Given the description of an element on the screen output the (x, y) to click on. 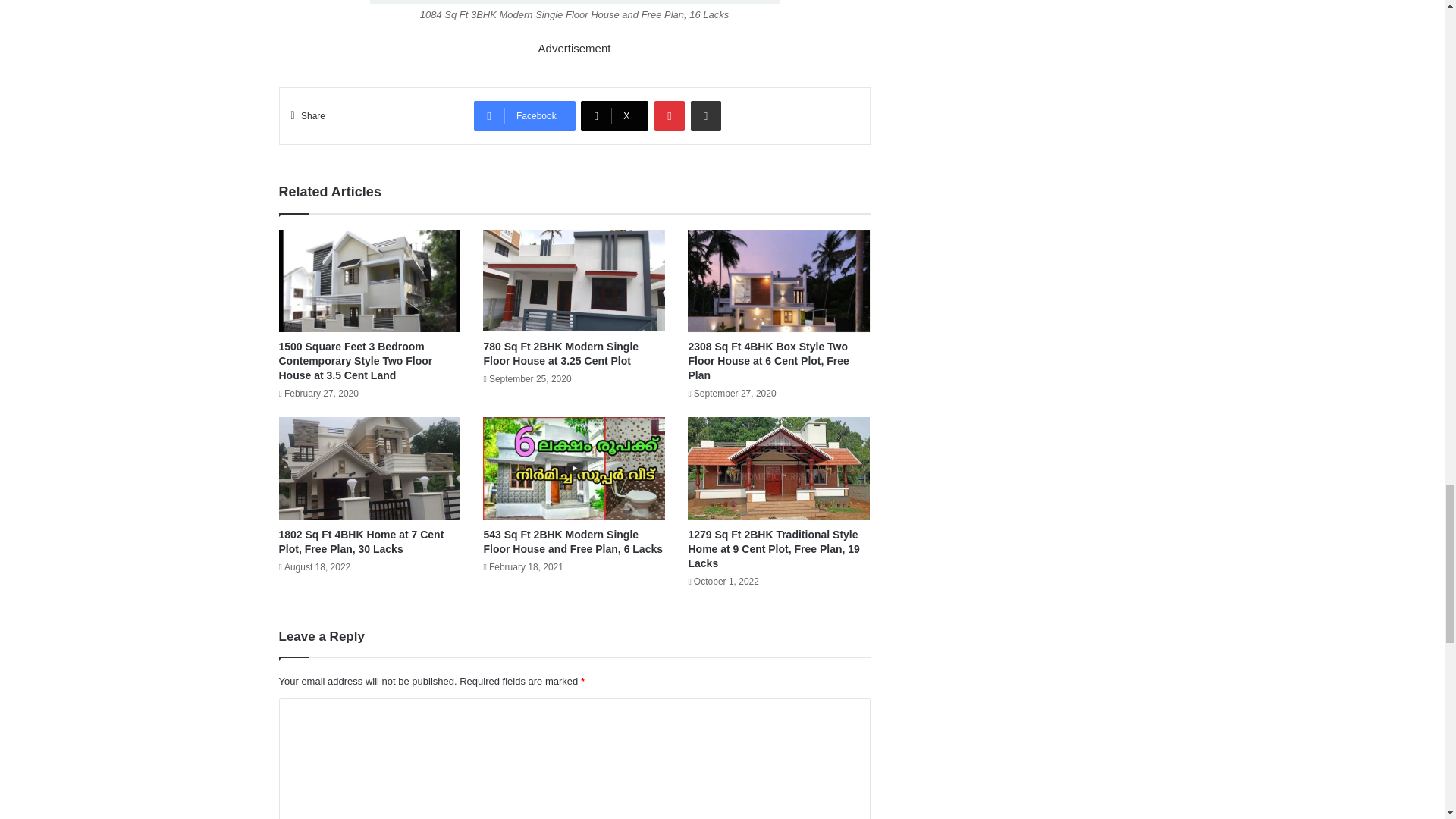
Facebook (524, 115)
X (613, 115)
Share via Email (705, 115)
X (613, 115)
Pinterest (668, 115)
Pinterest (668, 115)
Facebook (524, 115)
